Given the description of an element on the screen output the (x, y) to click on. 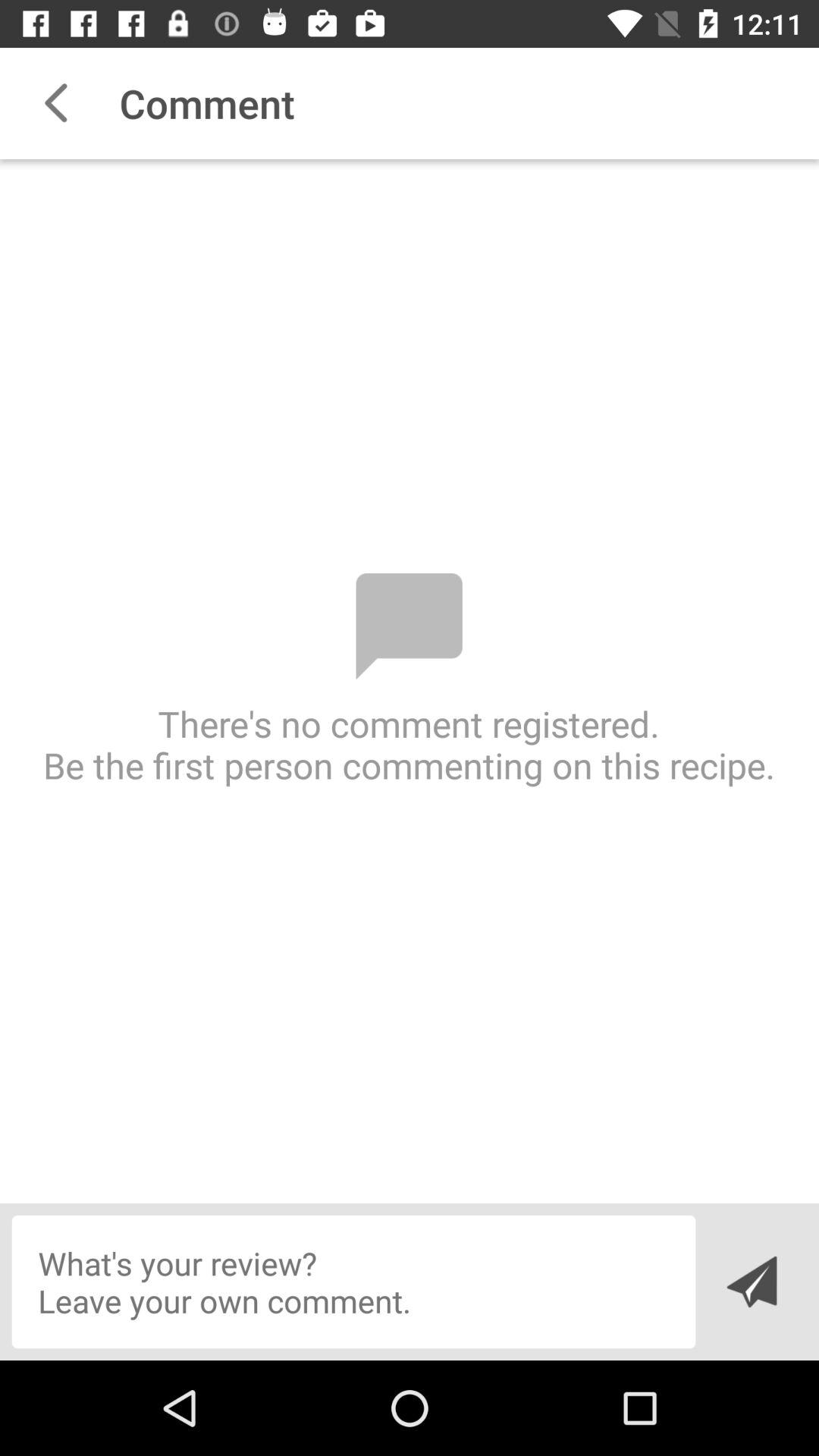
opens a text box for a review (353, 1281)
